Given the description of an element on the screen output the (x, y) to click on. 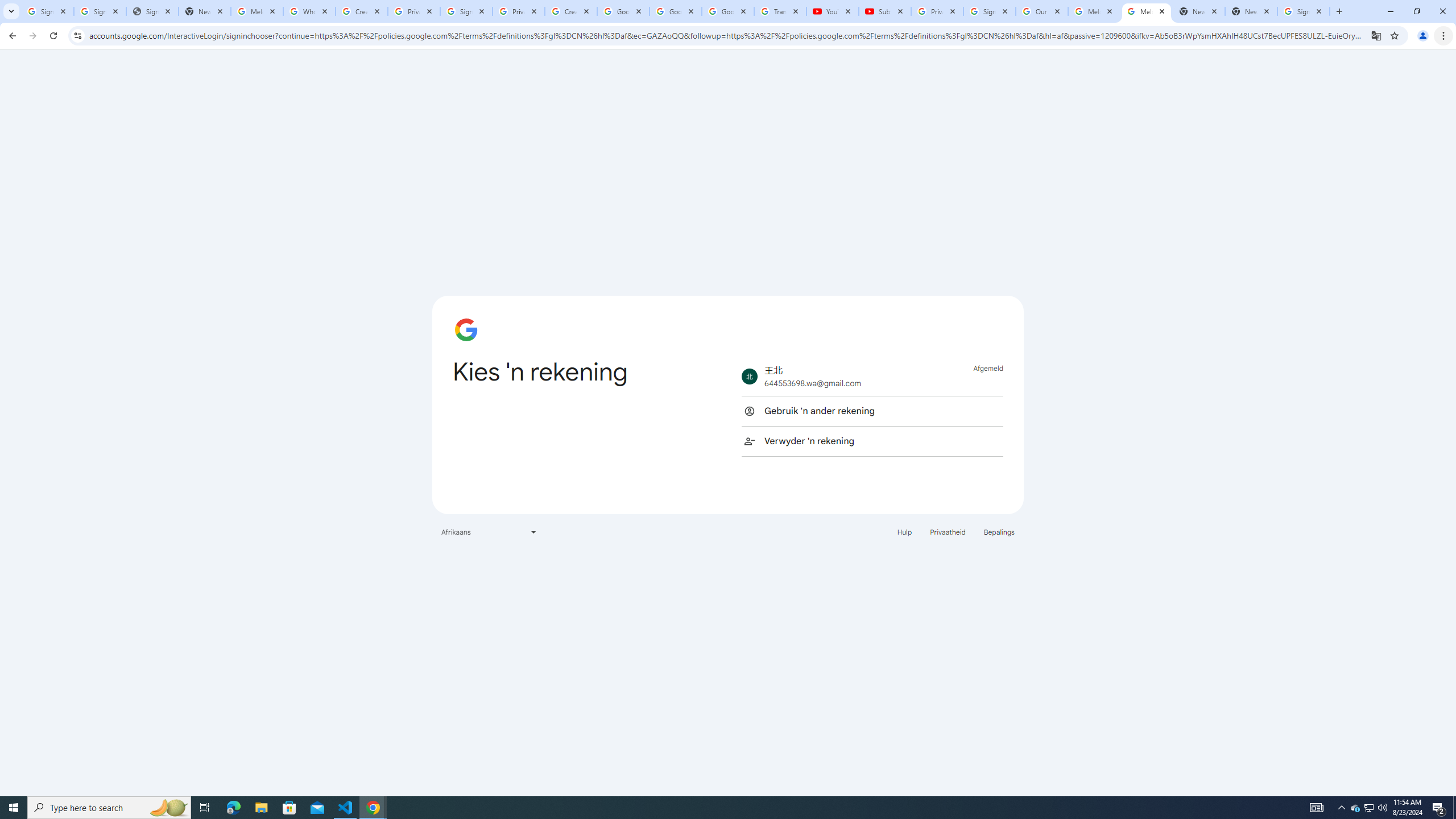
Subscriptions - YouTube (884, 11)
Translate this page (1376, 35)
Sign In - USA TODAY (151, 11)
Bepalings (999, 531)
Create your Google Account (361, 11)
Sign in - Google Accounts (989, 11)
Google Account (727, 11)
